Given the description of an element on the screen output the (x, y) to click on. 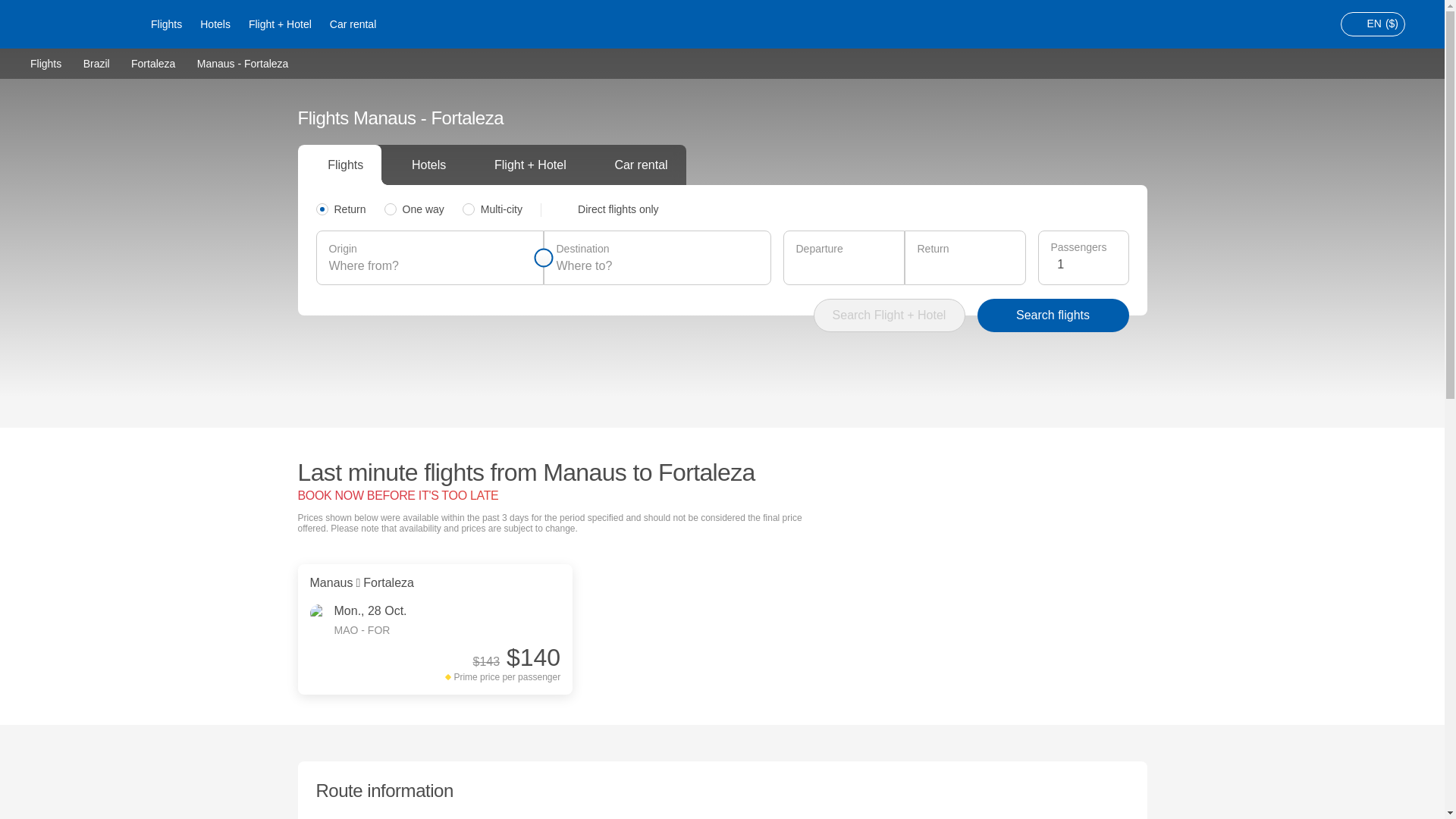
Search flights (1052, 315)
Hotels (215, 24)
Fortaleza (152, 62)
Car rental (352, 24)
Flights (165, 24)
Manaus - Fortaleza (242, 63)
Brazil (96, 62)
1 (1086, 263)
Flights (45, 62)
